Given the description of an element on the screen output the (x, y) to click on. 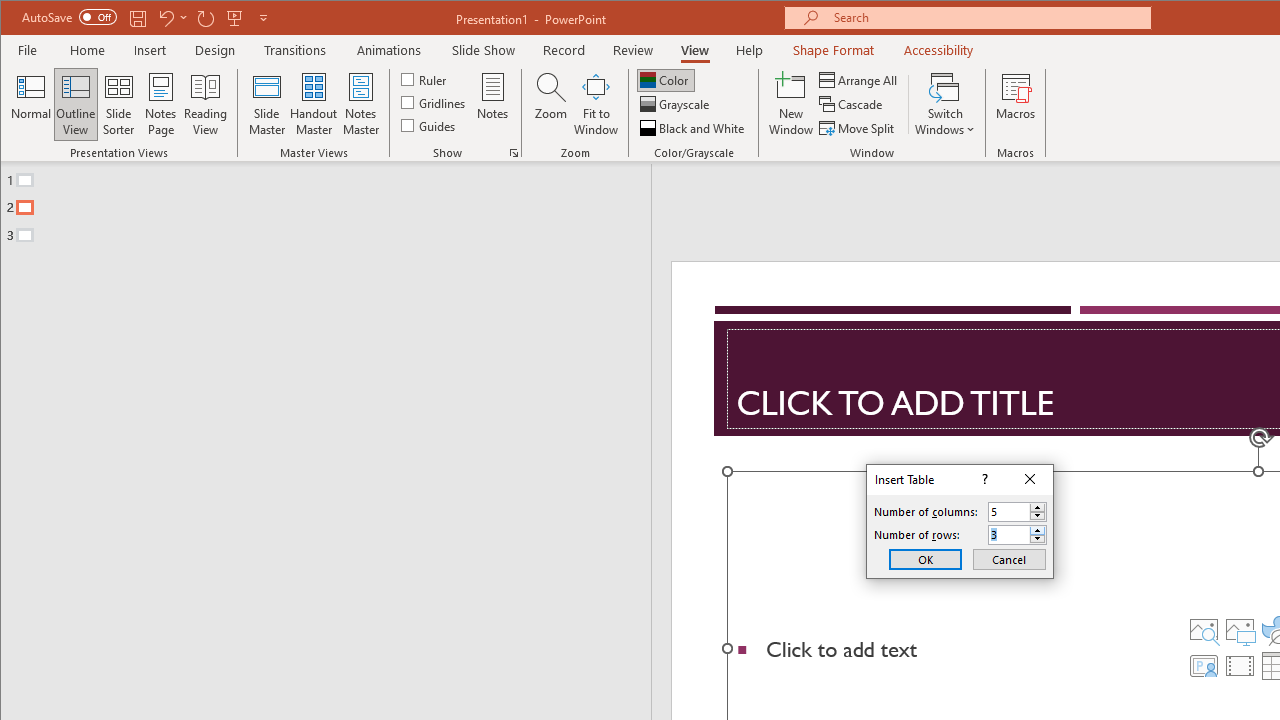
OK (925, 558)
Macros (1016, 104)
Notes (493, 104)
Ruler (425, 78)
Number of rows (1009, 535)
Insert Video (1239, 665)
Slide Master (266, 104)
Fit to Window (596, 104)
Number of rows (1017, 534)
Switch Windows (944, 104)
Cancel (1009, 558)
